Given the description of an element on the screen output the (x, y) to click on. 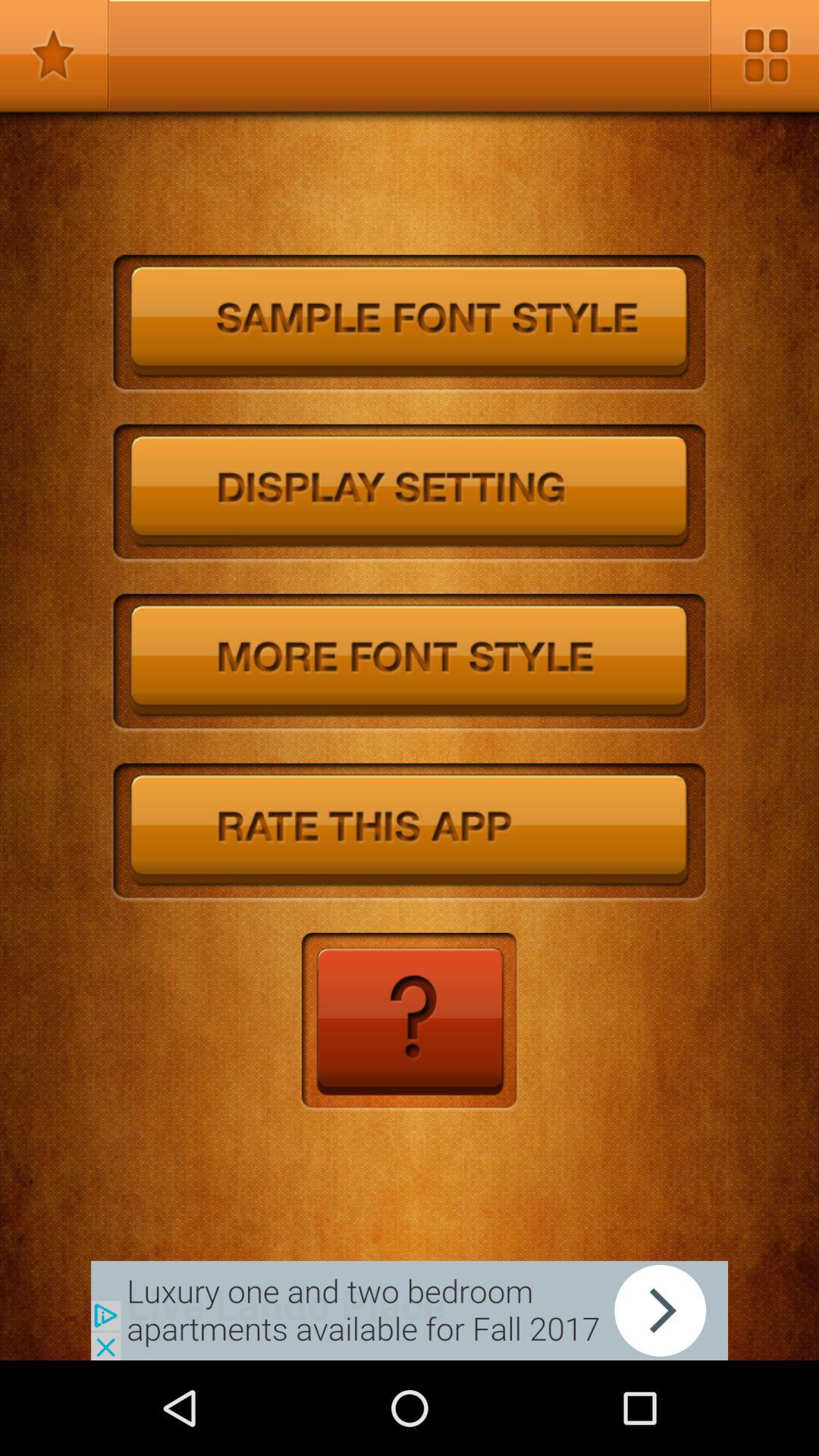
select the add (409, 1310)
